Given the description of an element on the screen output the (x, y) to click on. 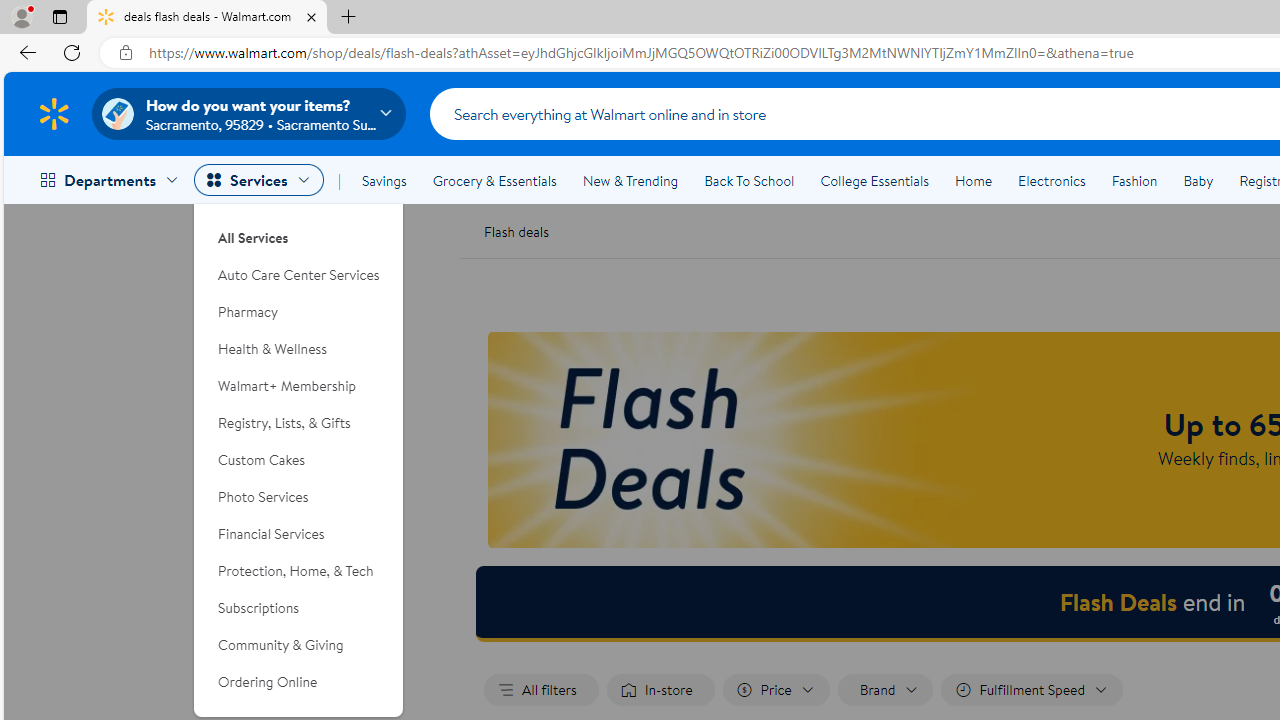
Community & Giving (299, 645)
Subscriptions (299, 608)
All filters none applied, activate to change (541, 690)
Electronics (1051, 180)
Fashion (1134, 180)
Baby (1197, 180)
Registry, Lists, & Gifts (299, 423)
Flash deals (516, 230)
Electronics (1051, 180)
Pharmacy (299, 312)
